Given the description of an element on the screen output the (x, y) to click on. 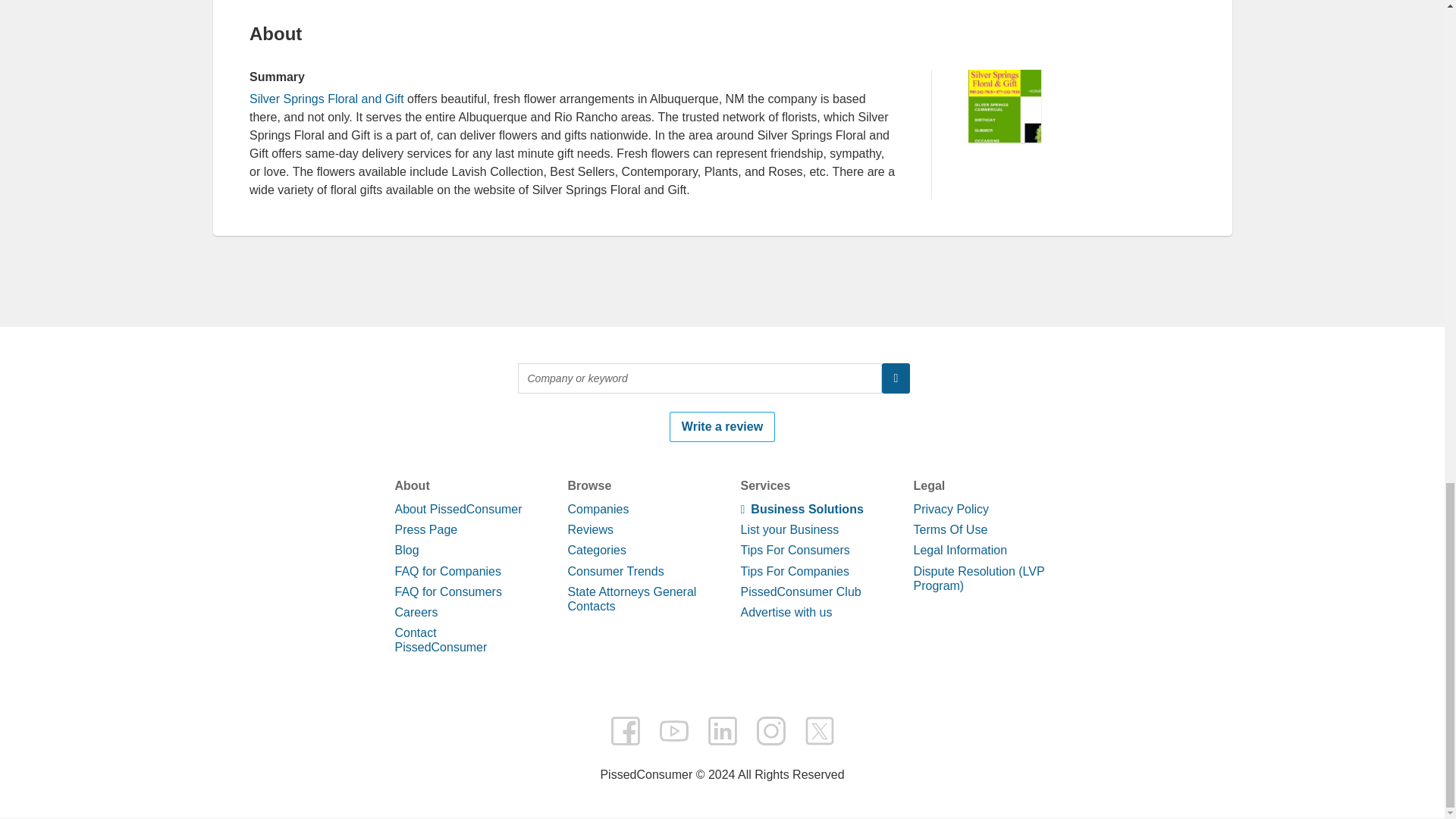
Write a review (721, 426)
Advertise with us (785, 612)
State Attorneys General Contacts (631, 598)
Contact PissedConsumer (440, 639)
Consumer Trends (615, 571)
Blog (406, 549)
facebook (625, 729)
About PissedConsumer (457, 508)
FAQ for Consumers (447, 591)
Legal Information (959, 549)
